Given the description of an element on the screen output the (x, y) to click on. 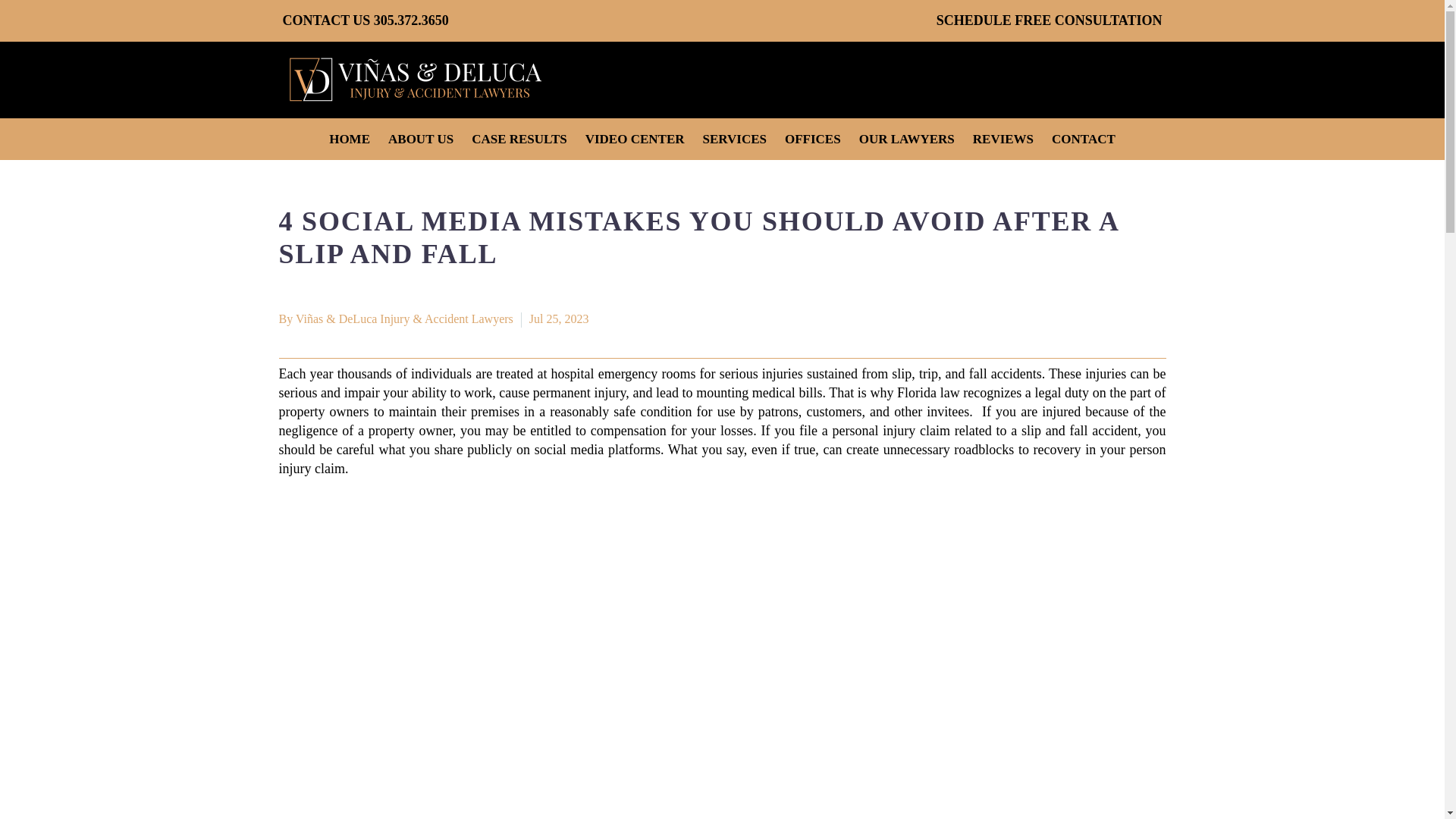
HOME (349, 138)
ABOUT US (420, 138)
VIDEO CENTER (635, 138)
SERVICES (735, 138)
CASE RESULTS (519, 138)
OFFICES (813, 138)
305.372.3650 (411, 20)
SCHEDULE FREE CONSULTATION (1048, 20)
